Given the description of an element on the screen output the (x, y) to click on. 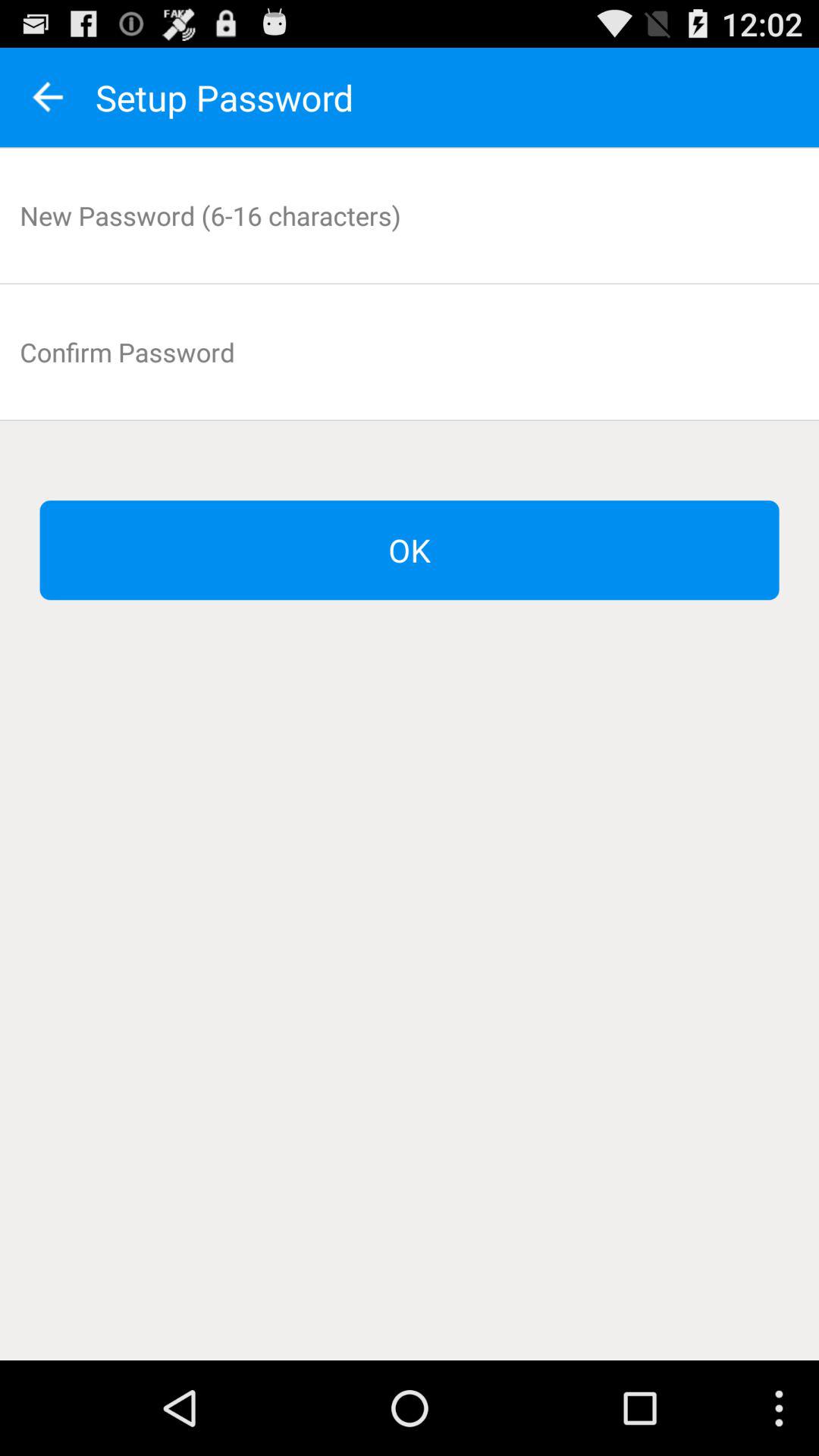
turn off the ok item (409, 550)
